Given the description of an element on the screen output the (x, y) to click on. 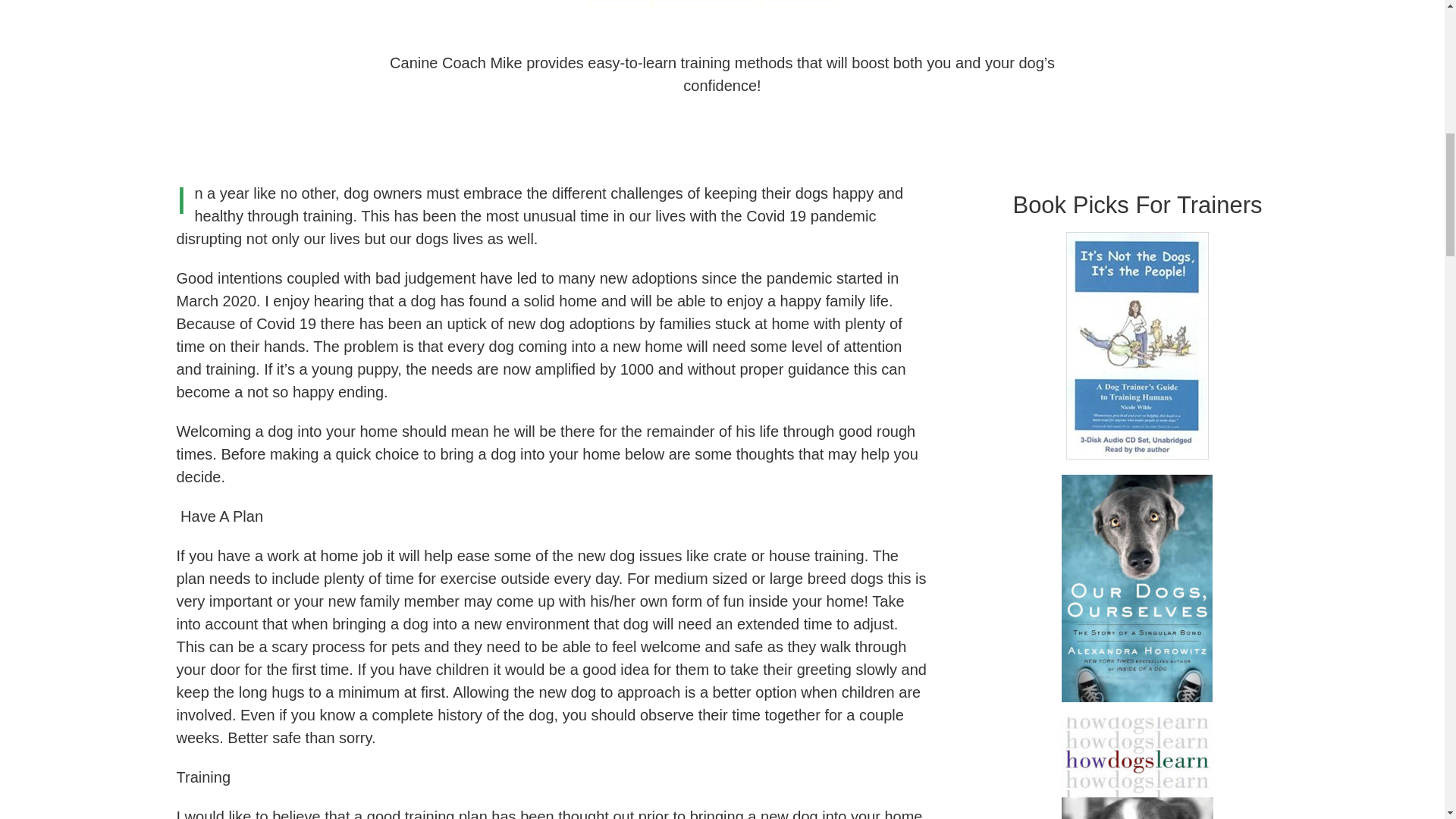
TRAINING TIPS (704, 4)
CONTACT (798, 4)
1-ON-1 (621, 4)
